Given the description of an element on the screen output the (x, y) to click on. 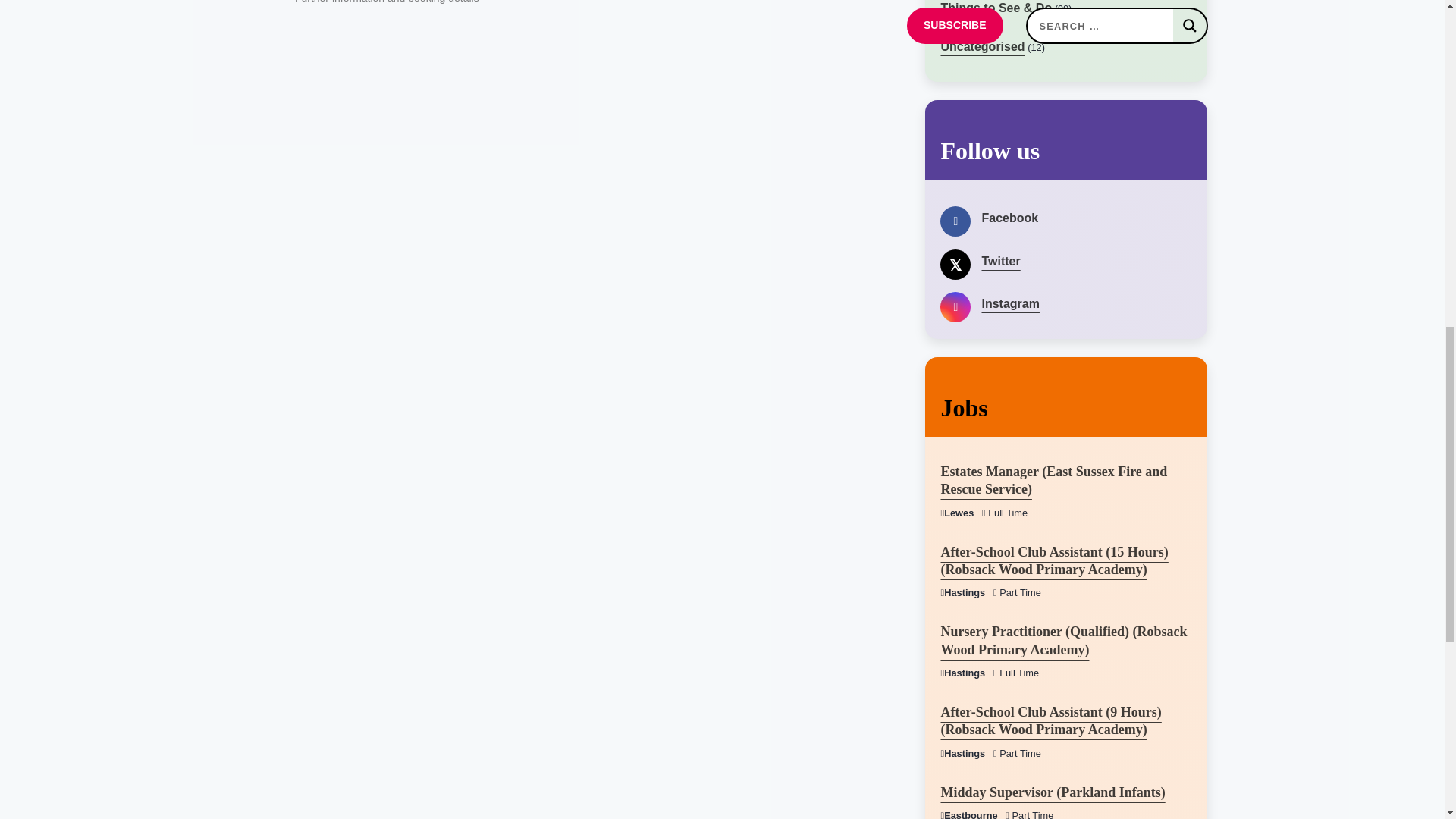
Facebook (1066, 216)
Twitter (1066, 259)
Instagram (1066, 301)
Uncategorised (982, 46)
